Given the description of an element on the screen output the (x, y) to click on. 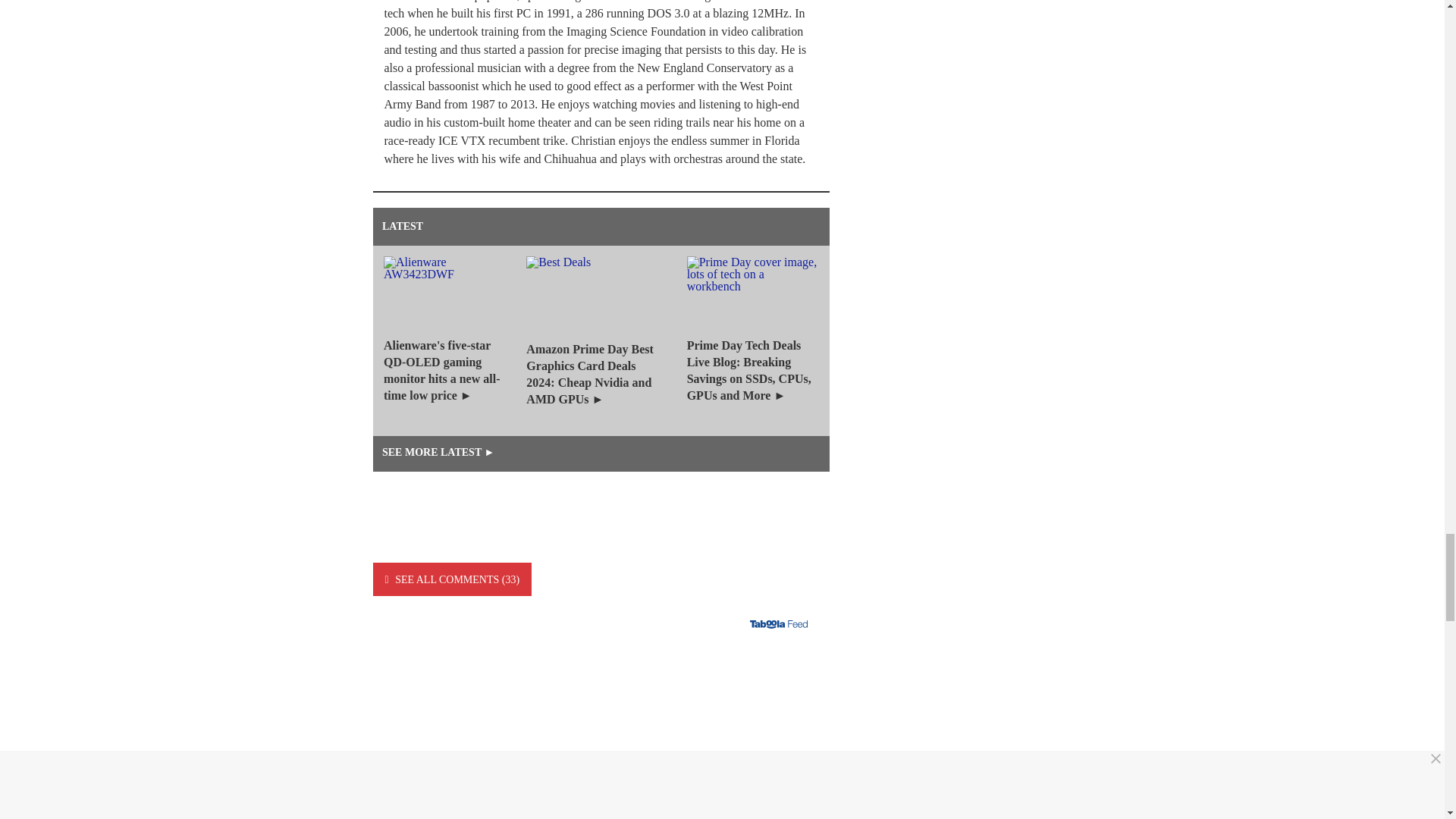
What is your writing missing? (600, 740)
